Given the description of an element on the screen output the (x, y) to click on. 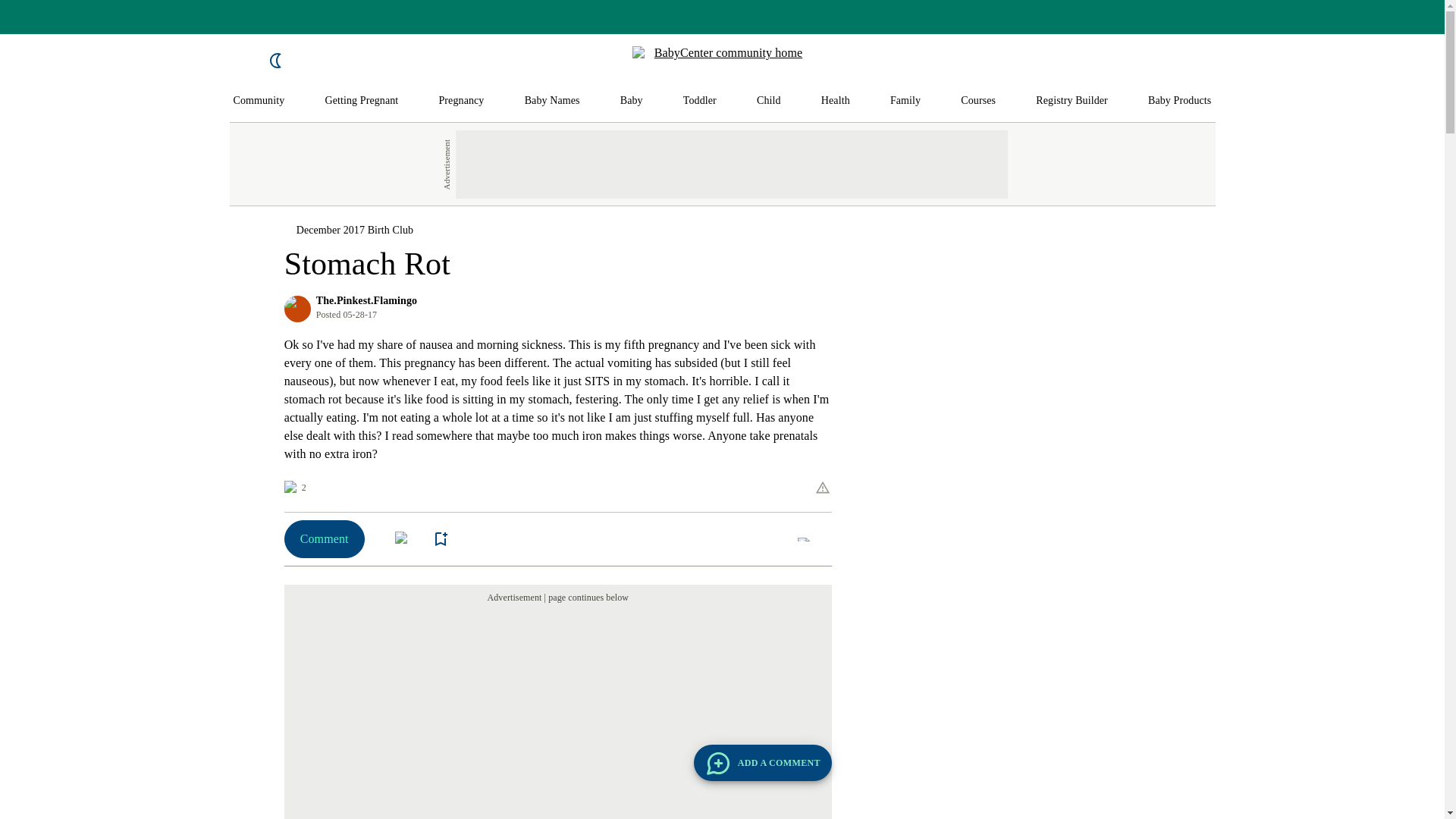
Family (904, 101)
Child (768, 101)
Baby Names (551, 101)
Toddler (699, 101)
Community (258, 101)
Registry Builder (1071, 101)
Health (835, 101)
Getting Pregnant (360, 101)
Baby (631, 101)
Pregnancy (460, 101)
